Given the description of an element on the screen output the (x, y) to click on. 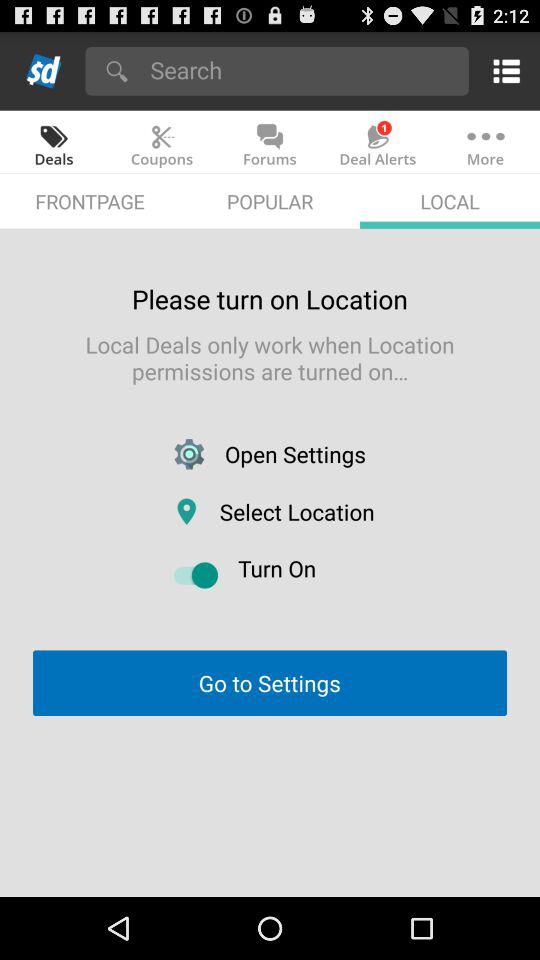
press the item above the coupons icon (302, 69)
